Given the description of an element on the screen output the (x, y) to click on. 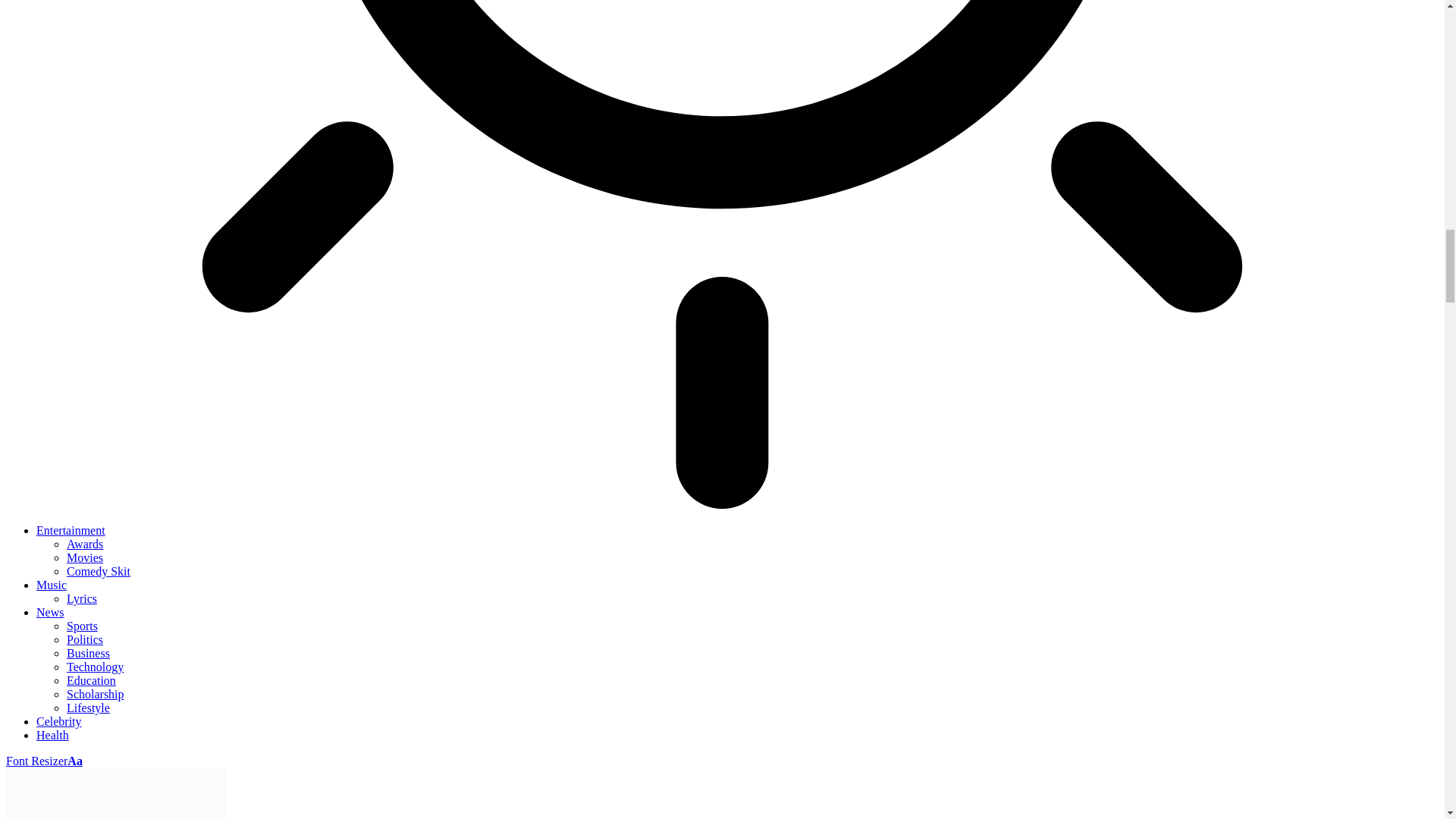
Comedy Skit (98, 571)
Politics (84, 639)
Technology (94, 666)
Business (88, 653)
Awards (84, 543)
Education (91, 680)
Sports (81, 625)
Lyrics (81, 598)
Scholarship (94, 694)
Celebrity (58, 721)
Font ResizerAa (43, 760)
Music (51, 584)
News (50, 612)
Entertainment (70, 530)
Movies (84, 557)
